Given the description of an element on the screen output the (x, y) to click on. 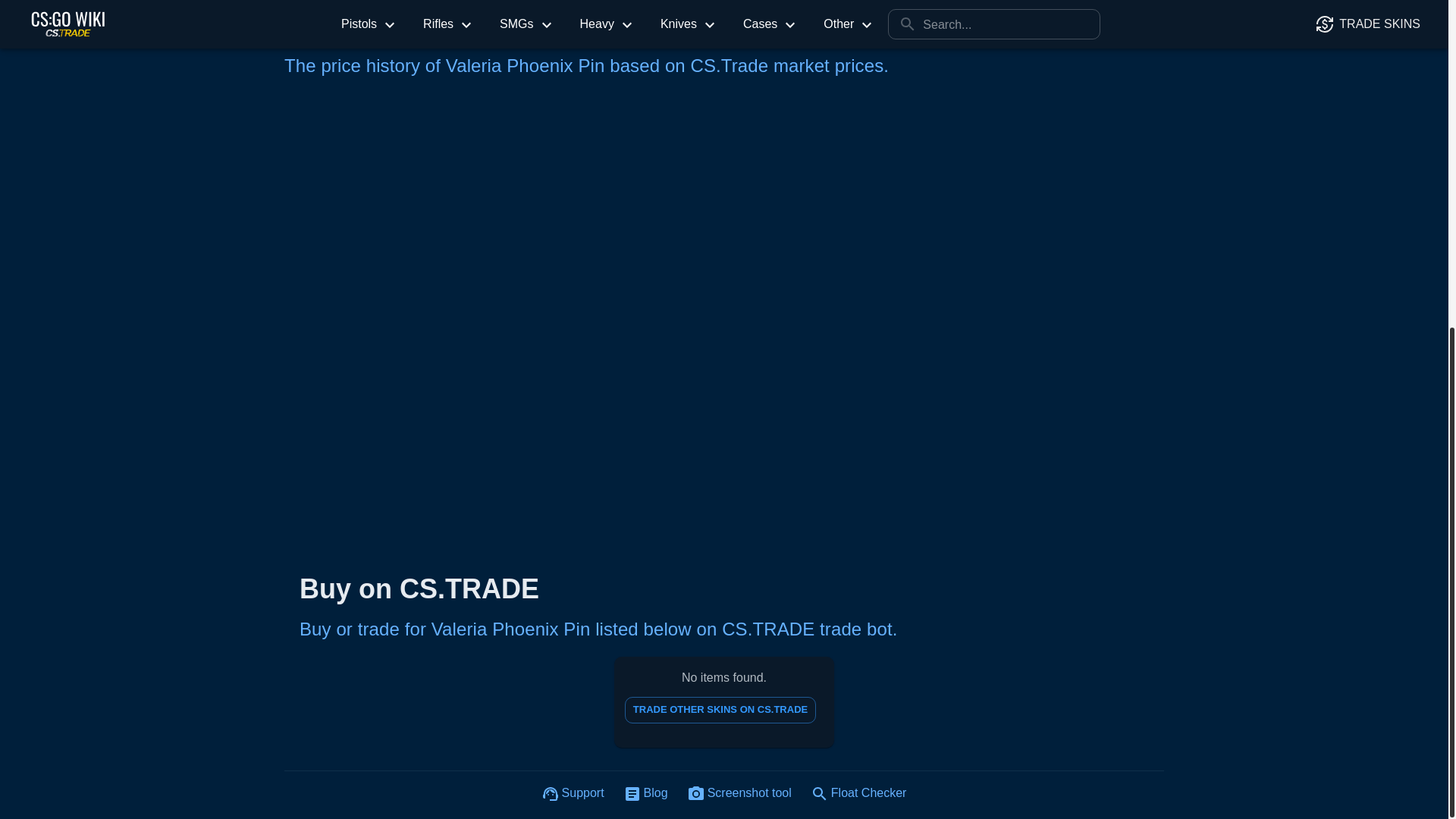
Support (573, 794)
Float Checker (859, 794)
TRADE OTHER SKINS ON CS.TRADE (724, 702)
Screenshot tool (719, 709)
Blog (740, 794)
